Given the description of an element on the screen output the (x, y) to click on. 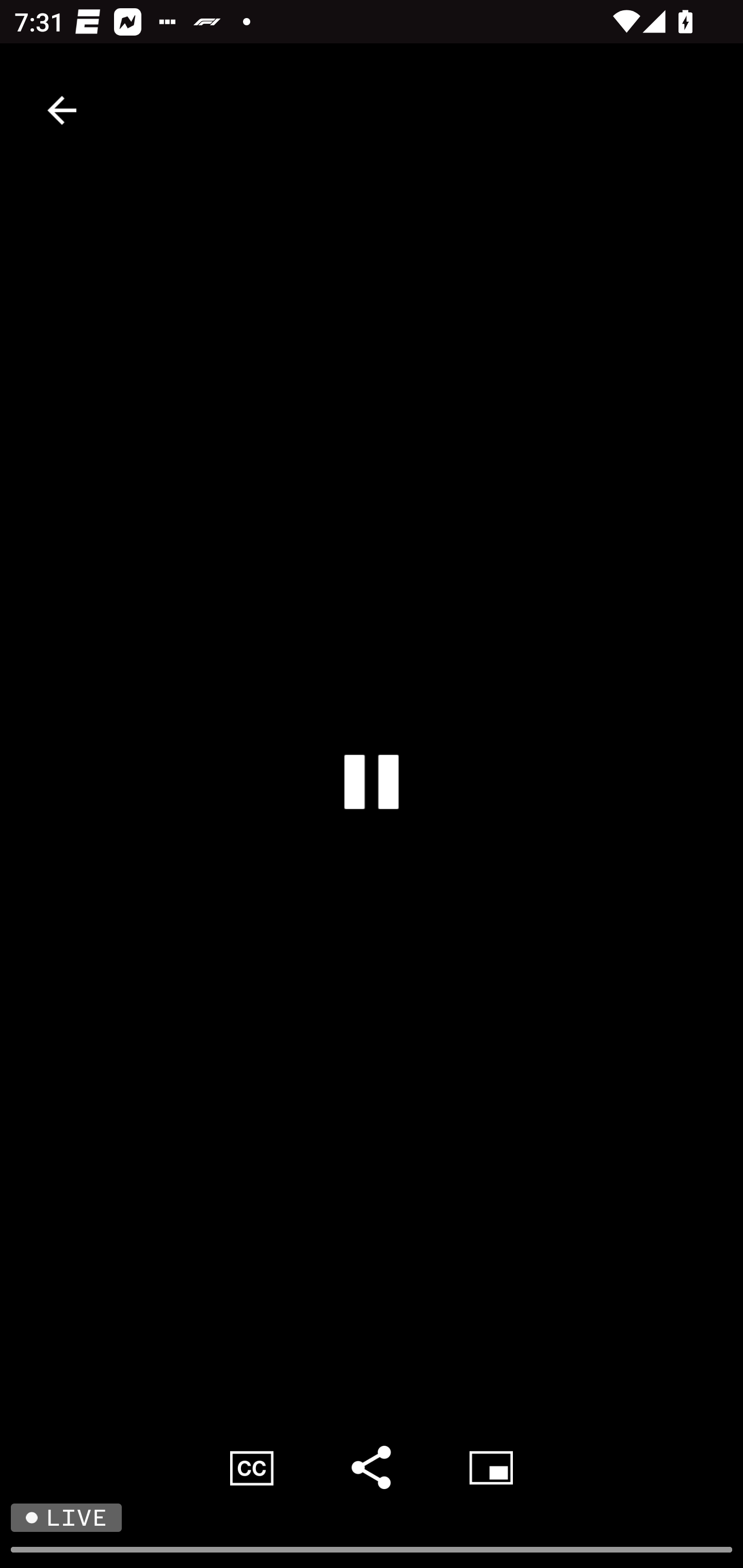
Back (61, 110)
Pause (371, 781)
Closed Captions, ON (251, 1467)
Share Media (371, 1467)
Picture in Picture Media (490, 1467)
